Given the description of an element on the screen output the (x, y) to click on. 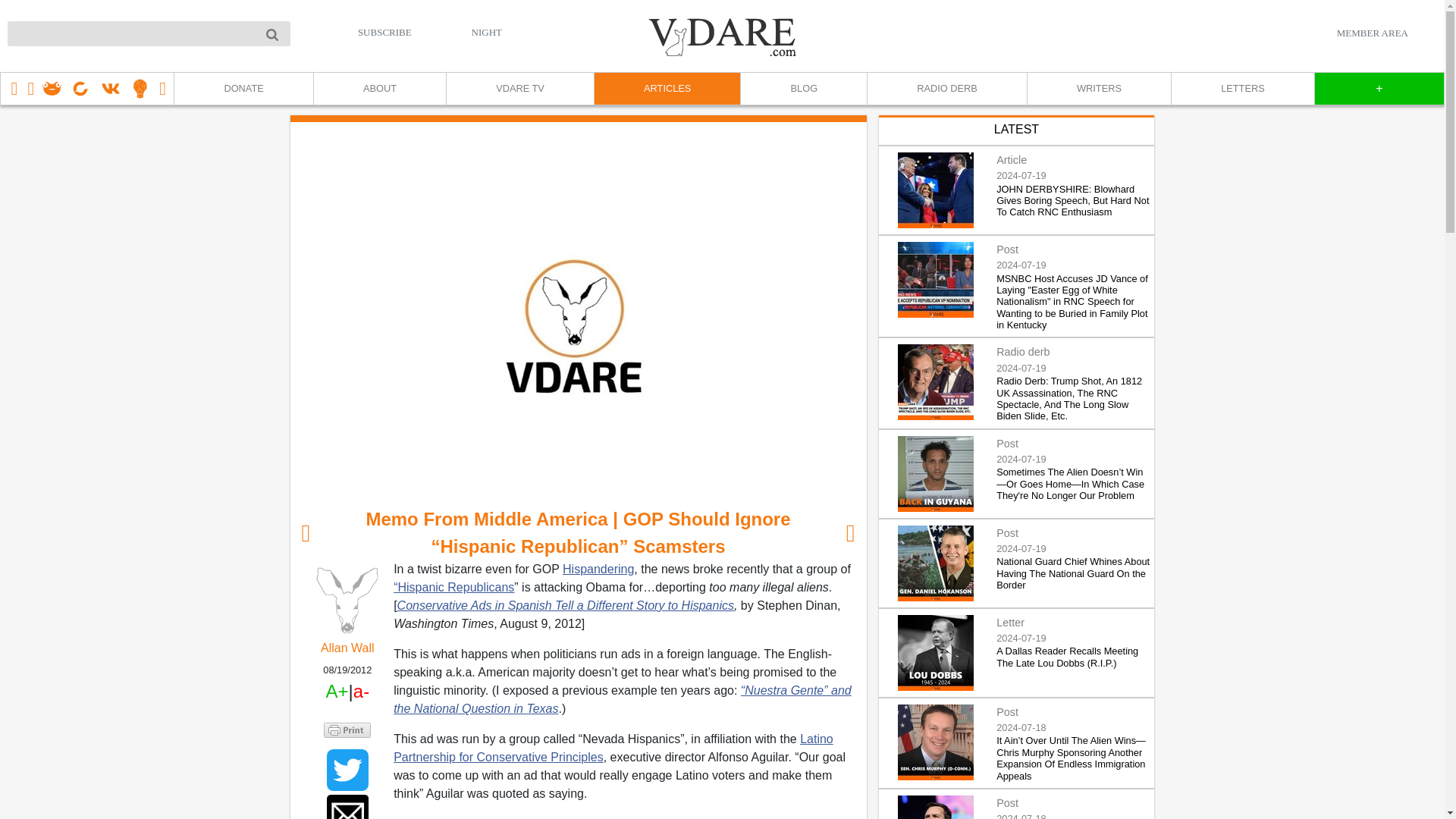
WRITERS (1098, 88)
SUBSCRIBE (385, 31)
Printer Friendly and PDF (347, 729)
Share to Email (347, 806)
MEMBER AREA (1371, 32)
BLOG (802, 88)
VDARE TV (519, 88)
LETTERS (1242, 88)
RADIO DERB (946, 88)
Share to Twitter (347, 770)
ABOUT (379, 88)
DONATE (243, 88)
ARTICLES (666, 88)
